Given the description of an element on the screen output the (x, y) to click on. 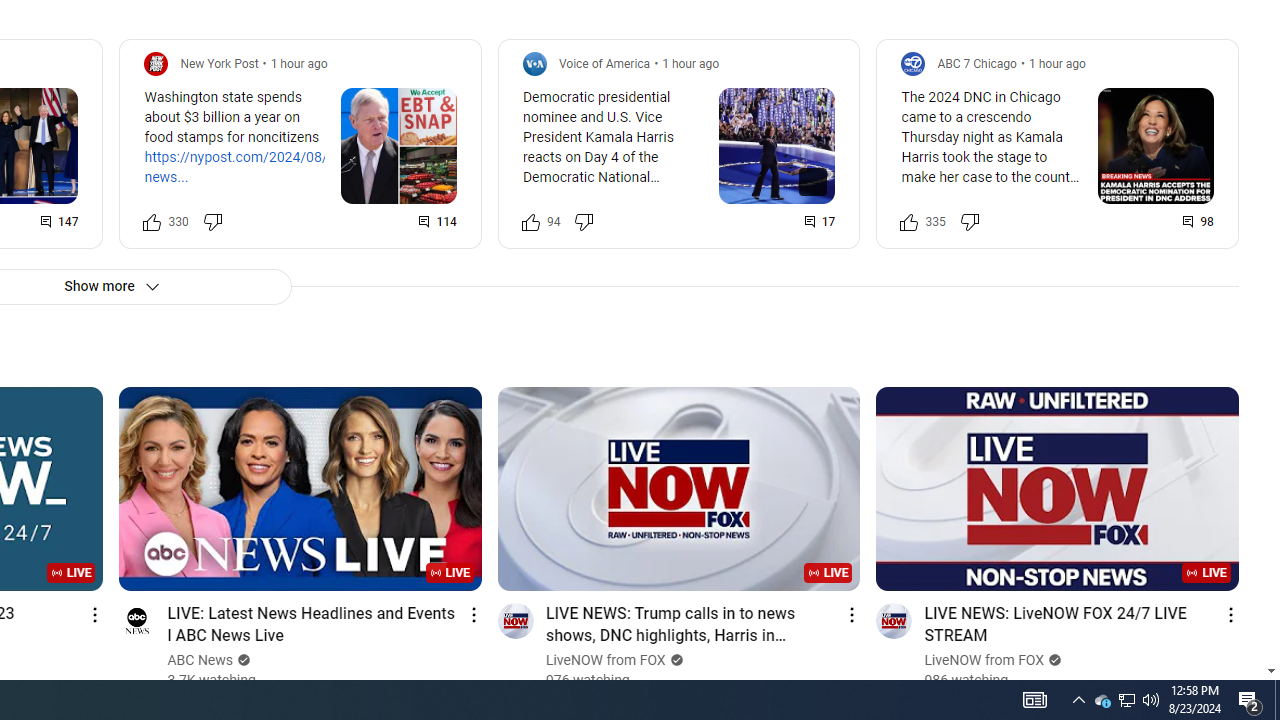
New York Post (219, 63)
1 hour ago (1056, 63)
Like this post along with 335 other people (909, 221)
LiveNOW from FOX (984, 660)
ABC 7 Chicago (976, 63)
Voice of America (604, 63)
Verified (1053, 660)
Like this post along with 330 other people (151, 221)
Dislike this post (969, 221)
Go to channel (893, 620)
Like this post along with 94 other people (530, 221)
